Given the description of an element on the screen output the (x, y) to click on. 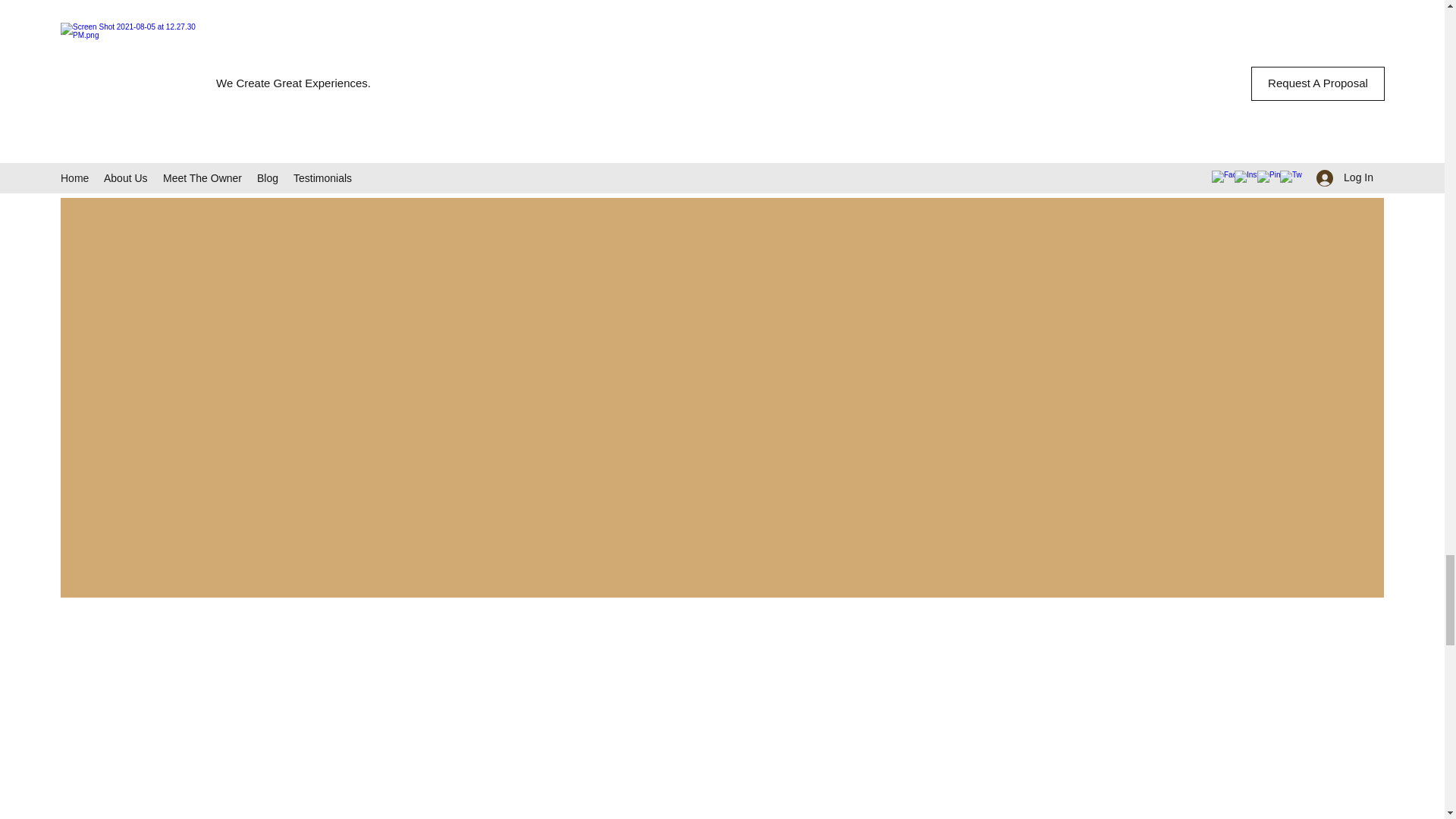
Submit (1053, 139)
